Given the description of an element on the screen output the (x, y) to click on. 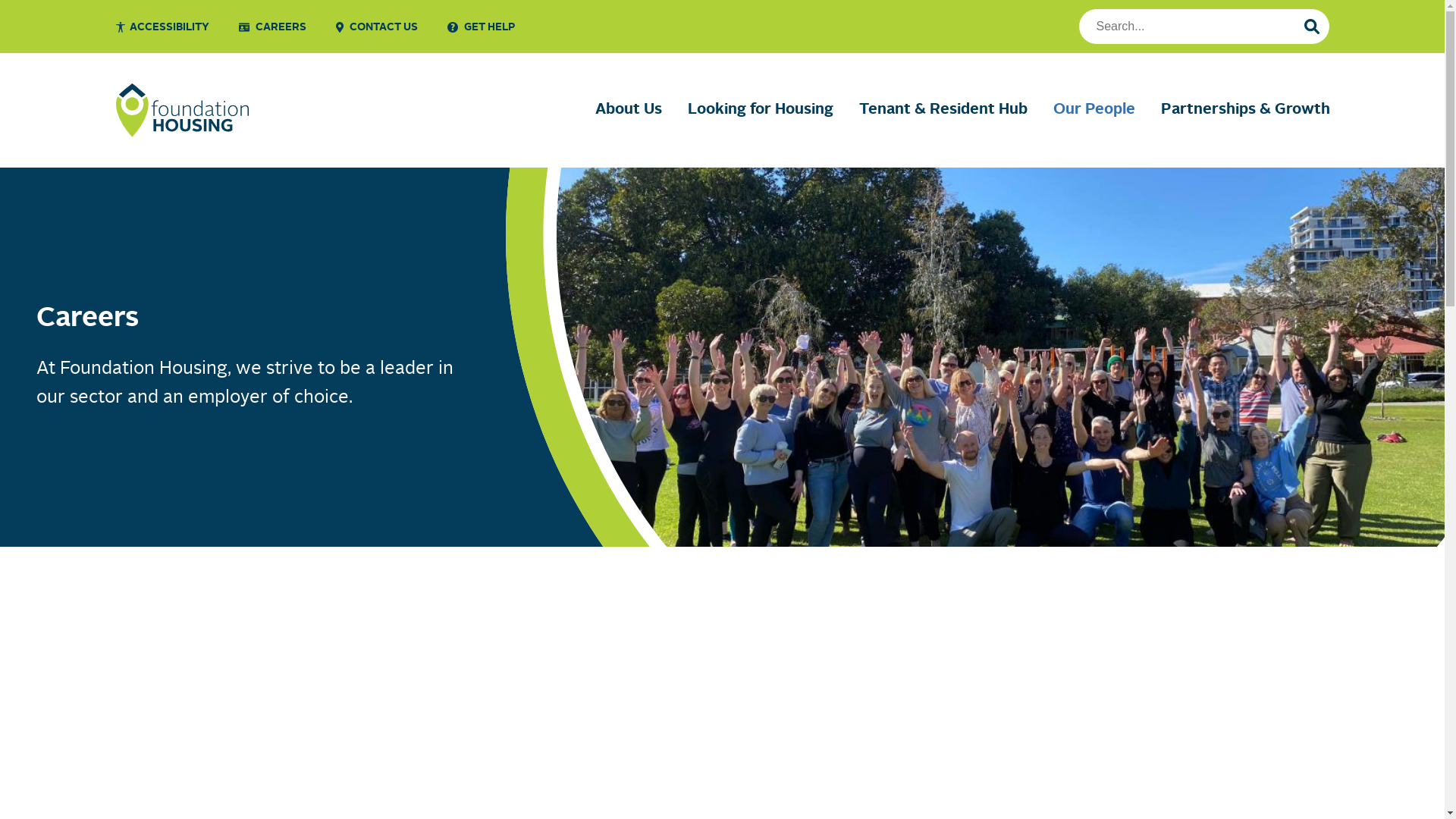
CONTACT US Element type: text (376, 26)
Our People Element type: text (1094, 109)
Looking for Housing Element type: text (760, 109)
ACCESSIBILITY Element type: text (161, 26)
CAREERS Element type: text (271, 26)
GET HELP Element type: text (480, 26)
Tenant & Resident Hub Element type: text (943, 109)
Foundation Housing Element type: hover (181, 110)
About Us Element type: text (628, 109)
Partnerships & Growth Element type: text (1245, 109)
